Given the description of an element on the screen output the (x, y) to click on. 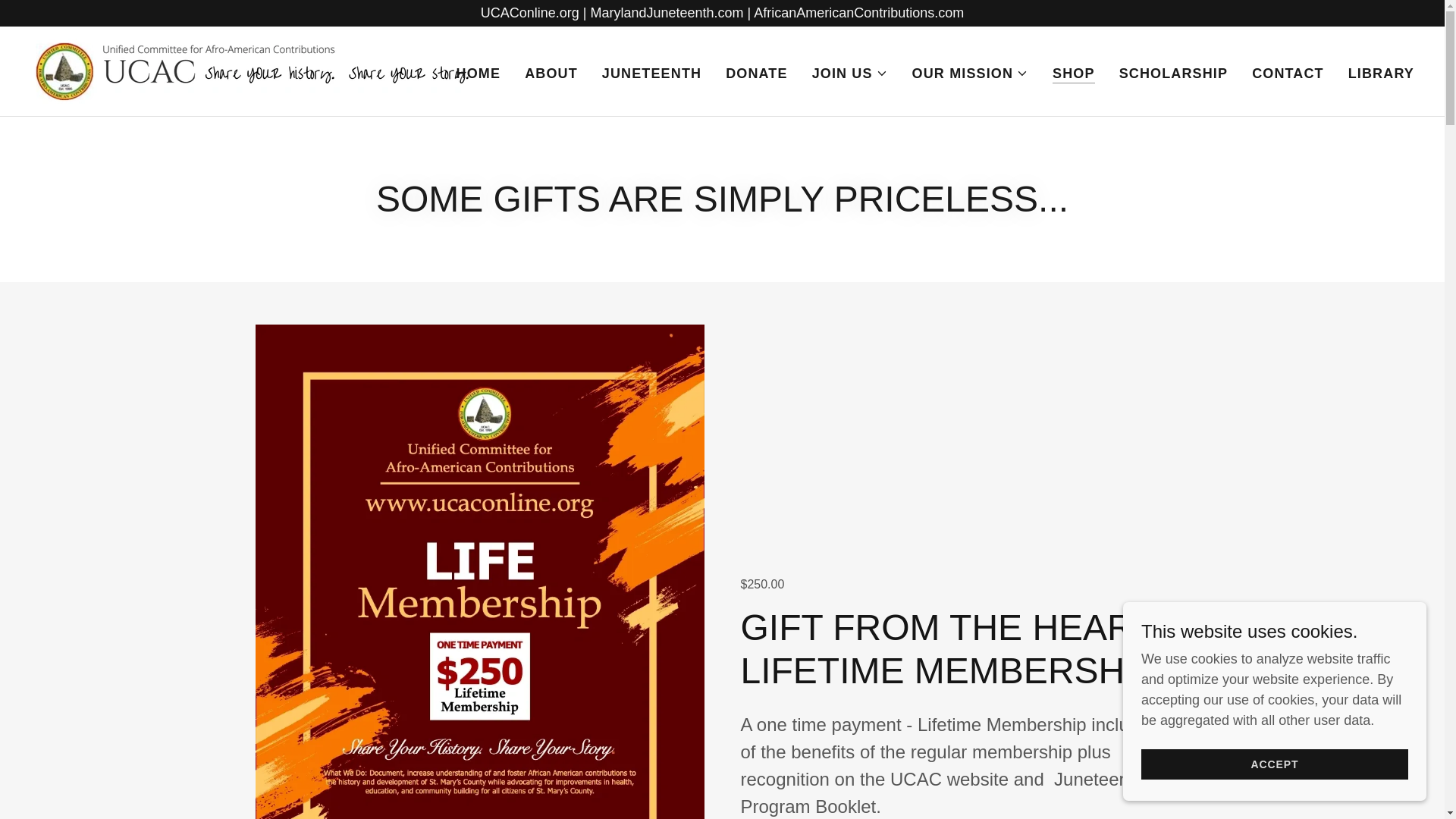
SHOP (1073, 72)
OUR MISSION (969, 72)
UCAC (250, 70)
LIBRARY (1380, 72)
JUNETEENTH (651, 72)
ABOUT (550, 72)
SCHOLARSHIP (1173, 72)
CONTACT (1287, 72)
JOIN US (850, 72)
HOME (478, 72)
DONATE (756, 72)
